Given the description of an element on the screen output the (x, y) to click on. 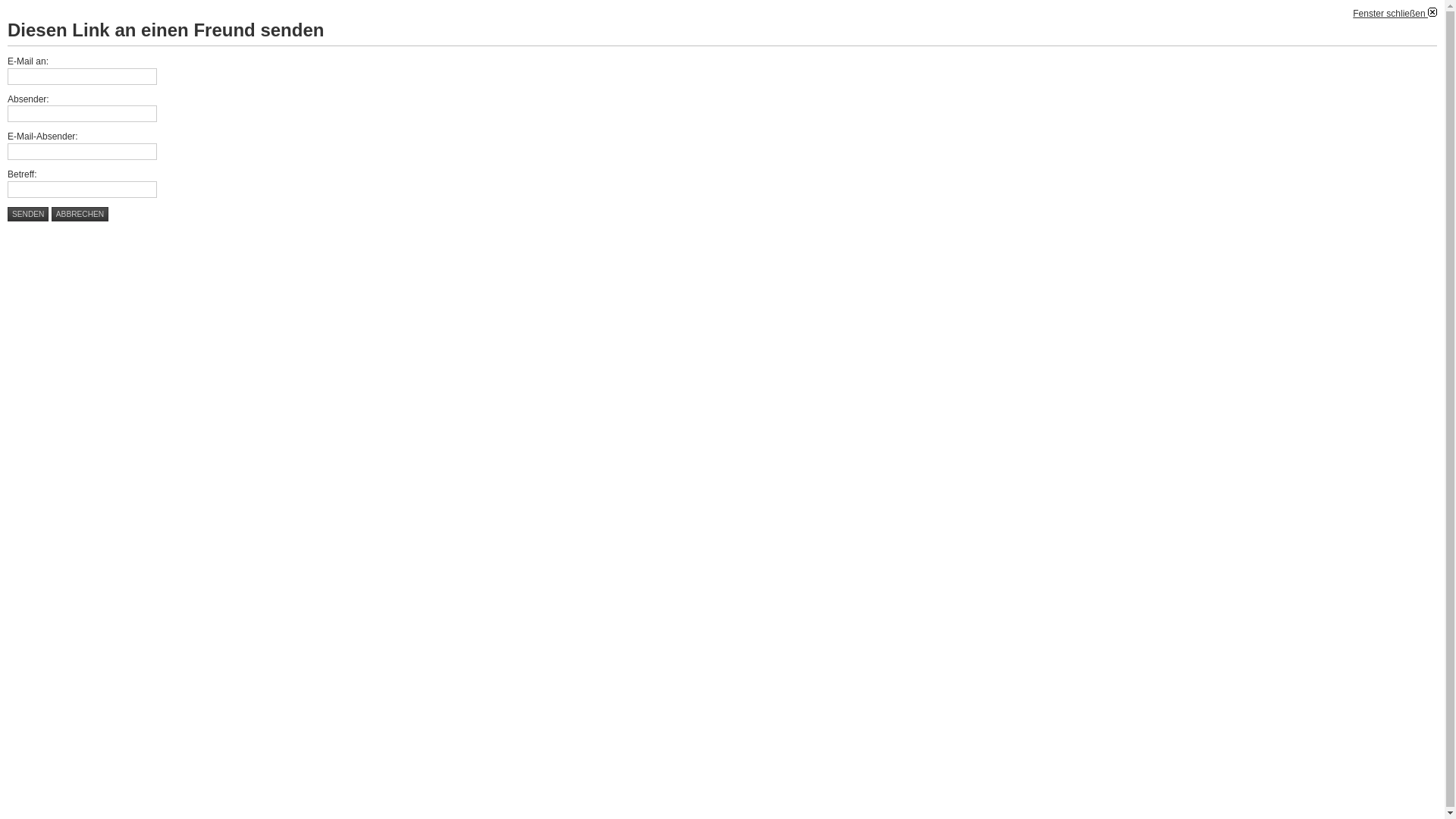
SENDEN Element type: text (27, 214)
ABBRECHEN Element type: text (79, 214)
